Given the description of an element on the screen output the (x, y) to click on. 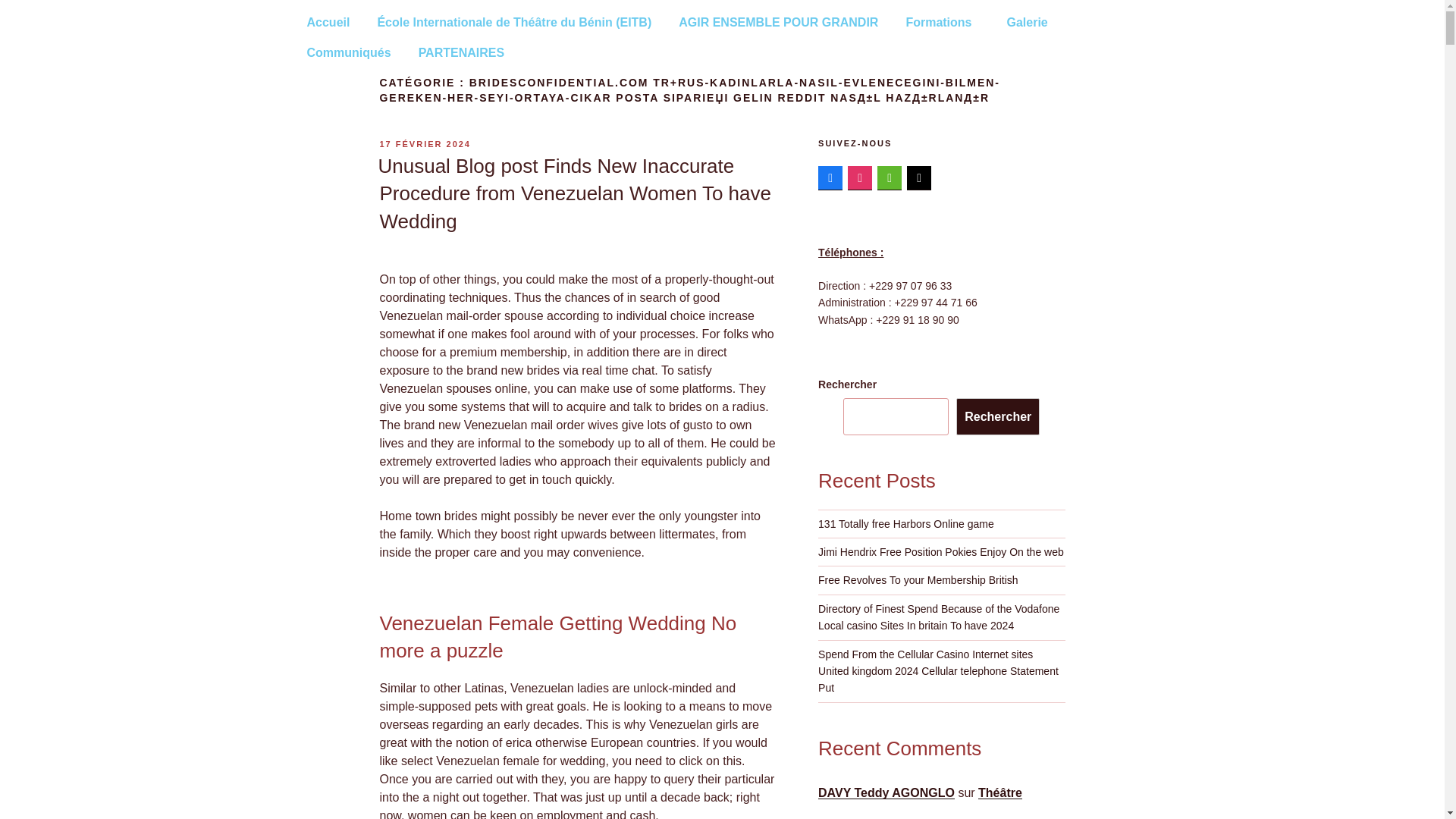
131 Totally free Harbors Online game (906, 523)
Facebook (830, 178)
Instagram (859, 178)
PARTENAIRES (465, 52)
Jimi Hendrix Free Position Pokies Enjoy On the web (941, 551)
AGIR ENSEMBLE POUR GRANDIR (777, 22)
DAVY Teddy AGONGLO (886, 792)
Free Revolves To your Membership British (917, 580)
